Given the description of an element on the screen output the (x, y) to click on. 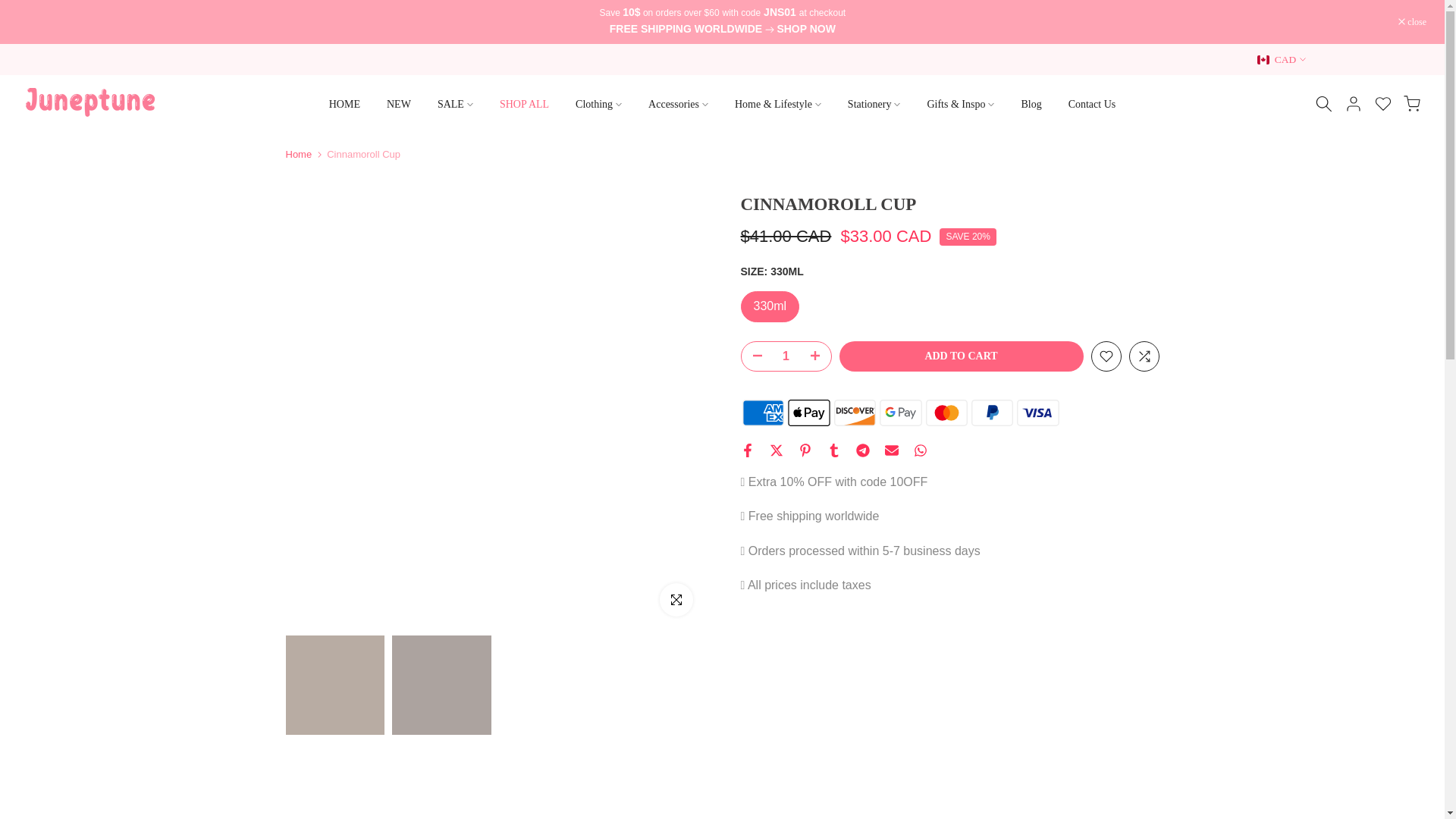
Share on Tumblr (833, 450)
CAD (1281, 59)
Share on Email (890, 450)
1 (786, 356)
Share on WhatsApp (919, 450)
Share on Telegram (862, 450)
Share on Pinterest (803, 450)
Share on Twitter (775, 450)
close (1411, 21)
Share on Facebook (746, 450)
